Given the description of an element on the screen output the (x, y) to click on. 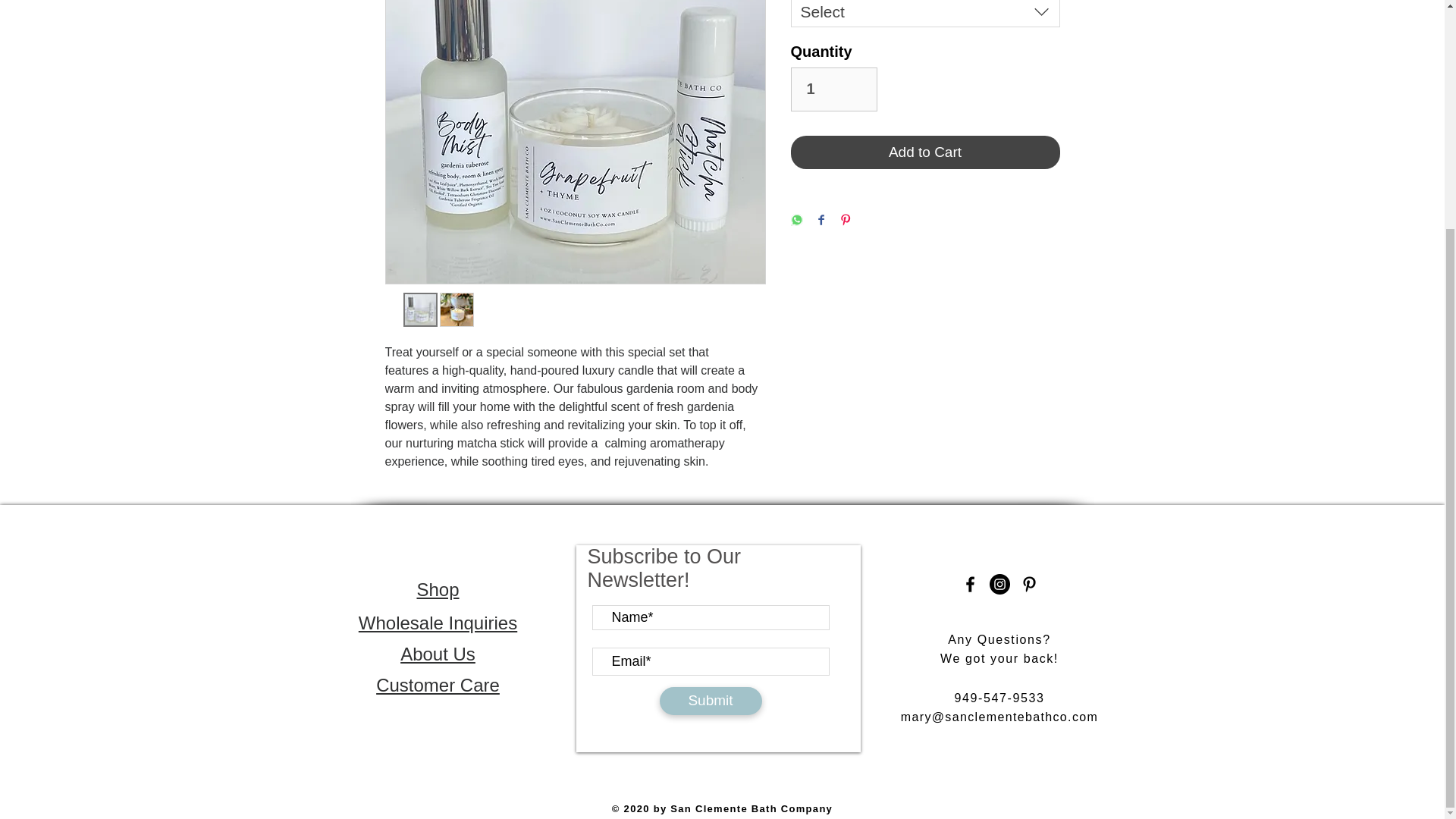
Add to Cart (924, 152)
1 (833, 89)
Submit (710, 700)
Shop (437, 589)
Wholesale Inquiries (437, 622)
About Us (438, 653)
Customer Care (437, 684)
Select (924, 13)
